Given the description of an element on the screen output the (x, y) to click on. 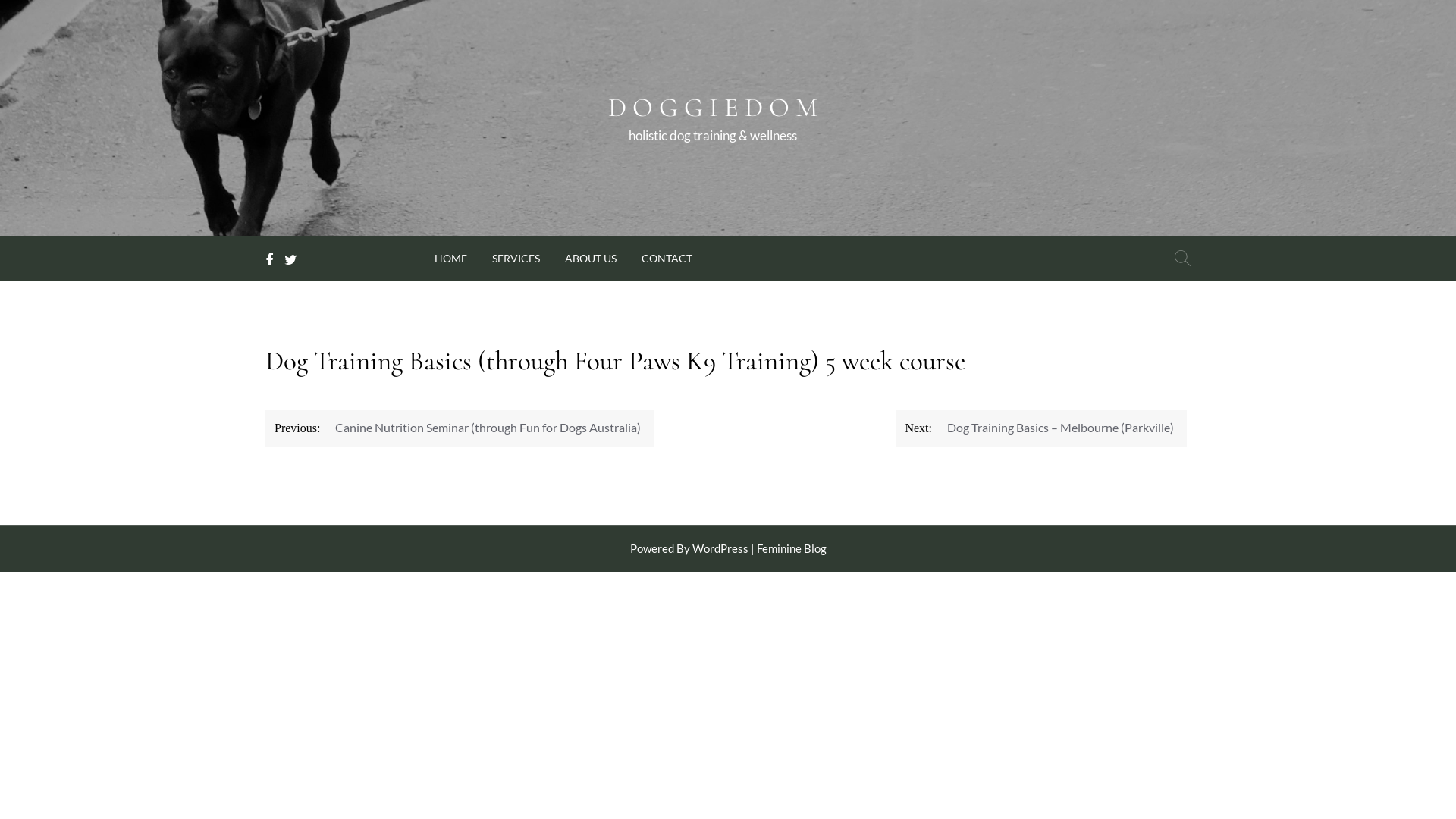
D O G G I E D O M Element type: text (712, 107)
Search Element type: text (1182, 258)
ABOUT US Element type: text (590, 256)
CONTACT Element type: text (666, 256)
Feminine Blog Element type: text (791, 548)
SERVICES Element type: text (515, 256)
HOME Element type: text (450, 256)
